Given the description of an element on the screen output the (x, y) to click on. 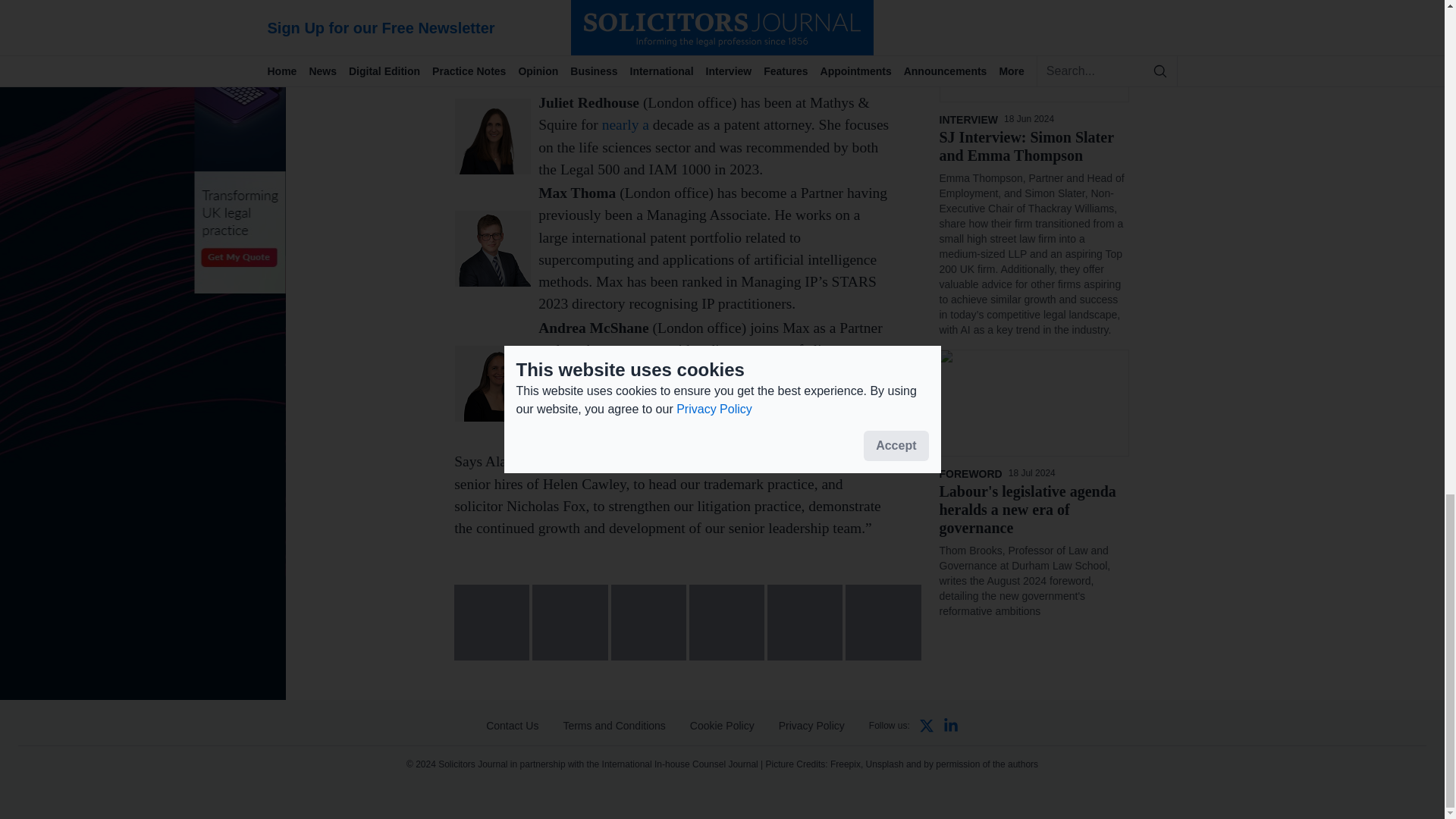
nearly a (625, 124)
SMEs (722, 371)
